Given the description of an element on the screen output the (x, y) to click on. 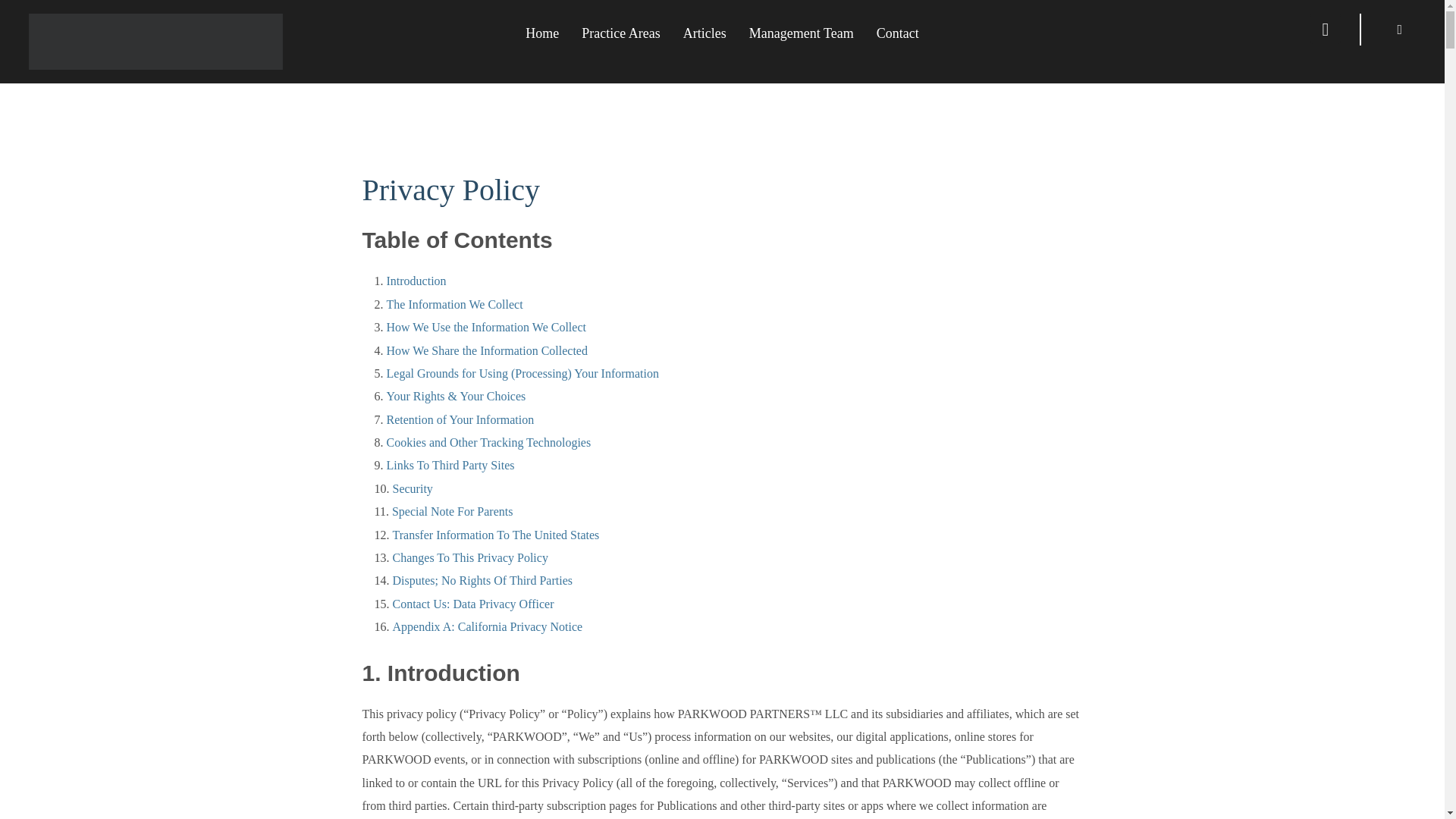
Practice Areas (619, 32)
linkedin (1399, 28)
Contact (897, 32)
Management Team (801, 32)
Articles (704, 32)
Search (15, 15)
Home (542, 32)
